Given the description of an element on the screen output the (x, y) to click on. 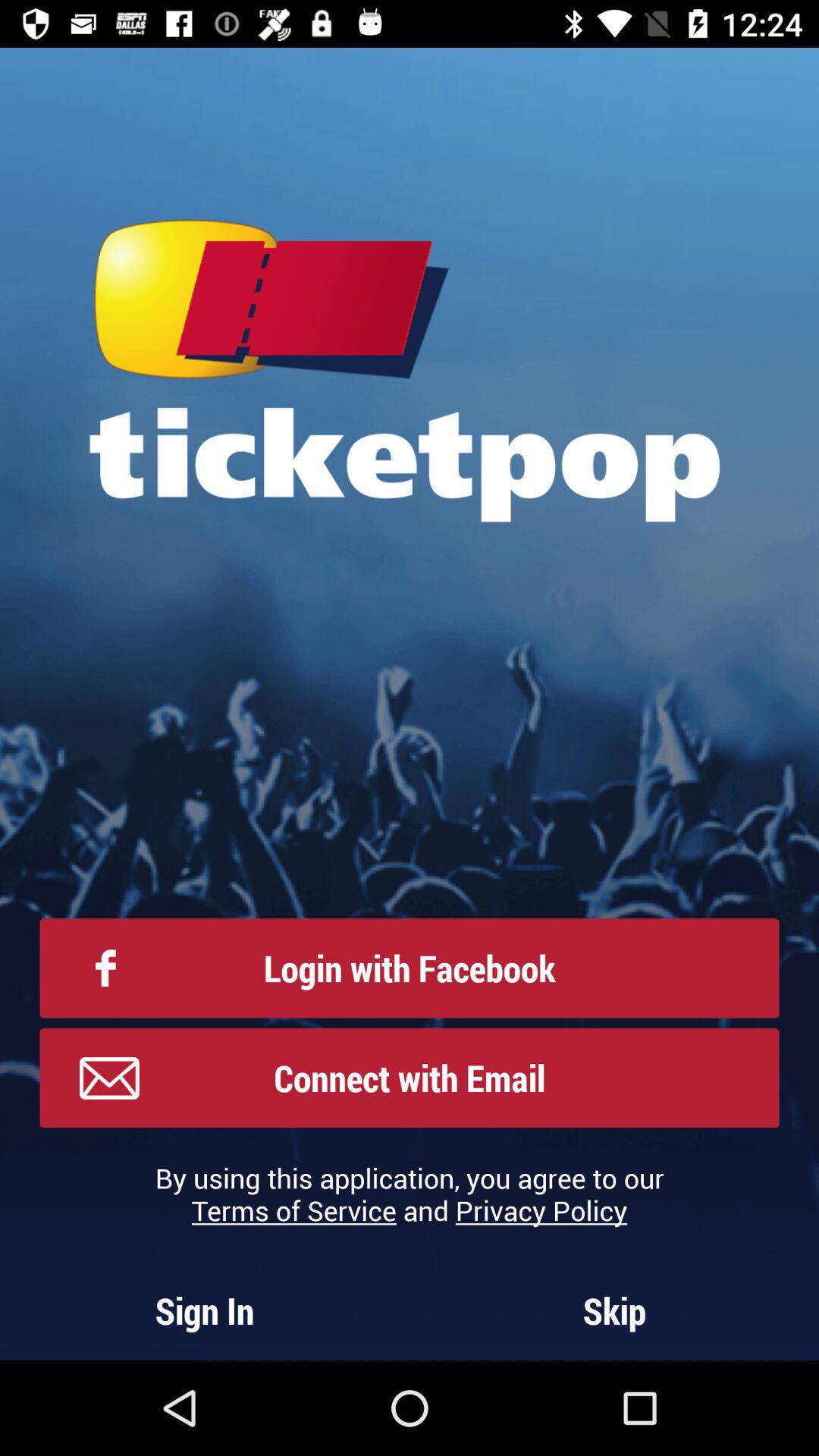
open item next to sign in item (614, 1310)
